Given the description of an element on the screen output the (x, y) to click on. 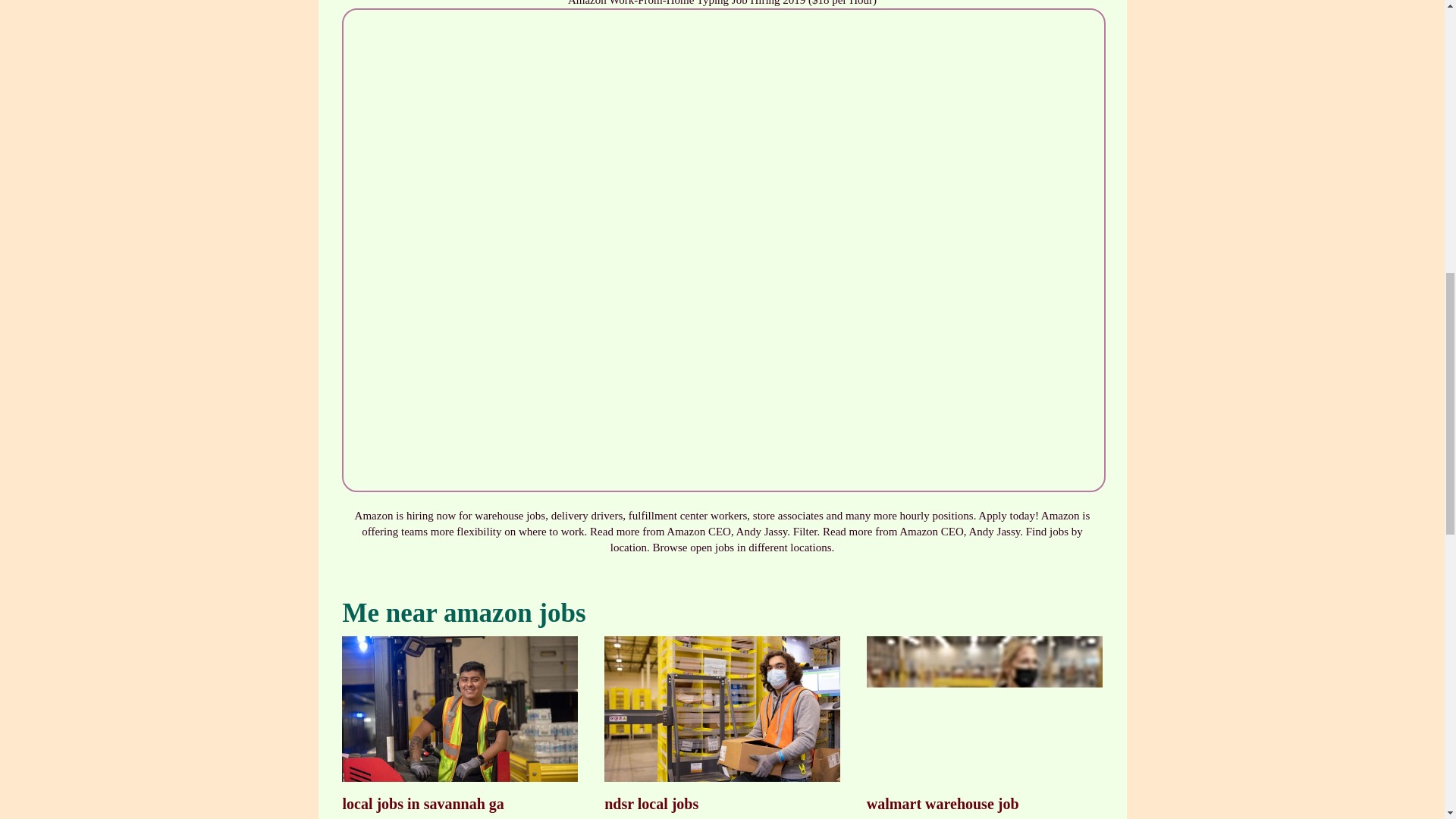
Amazon jobs near me (722, 709)
Amazon jobs near me (984, 709)
Amazon jobs near me (460, 709)
walmart warehouse job (984, 725)
local jobs in savannah ga (460, 725)
ndsr local jobs (722, 725)
